Given the description of an element on the screen output the (x, y) to click on. 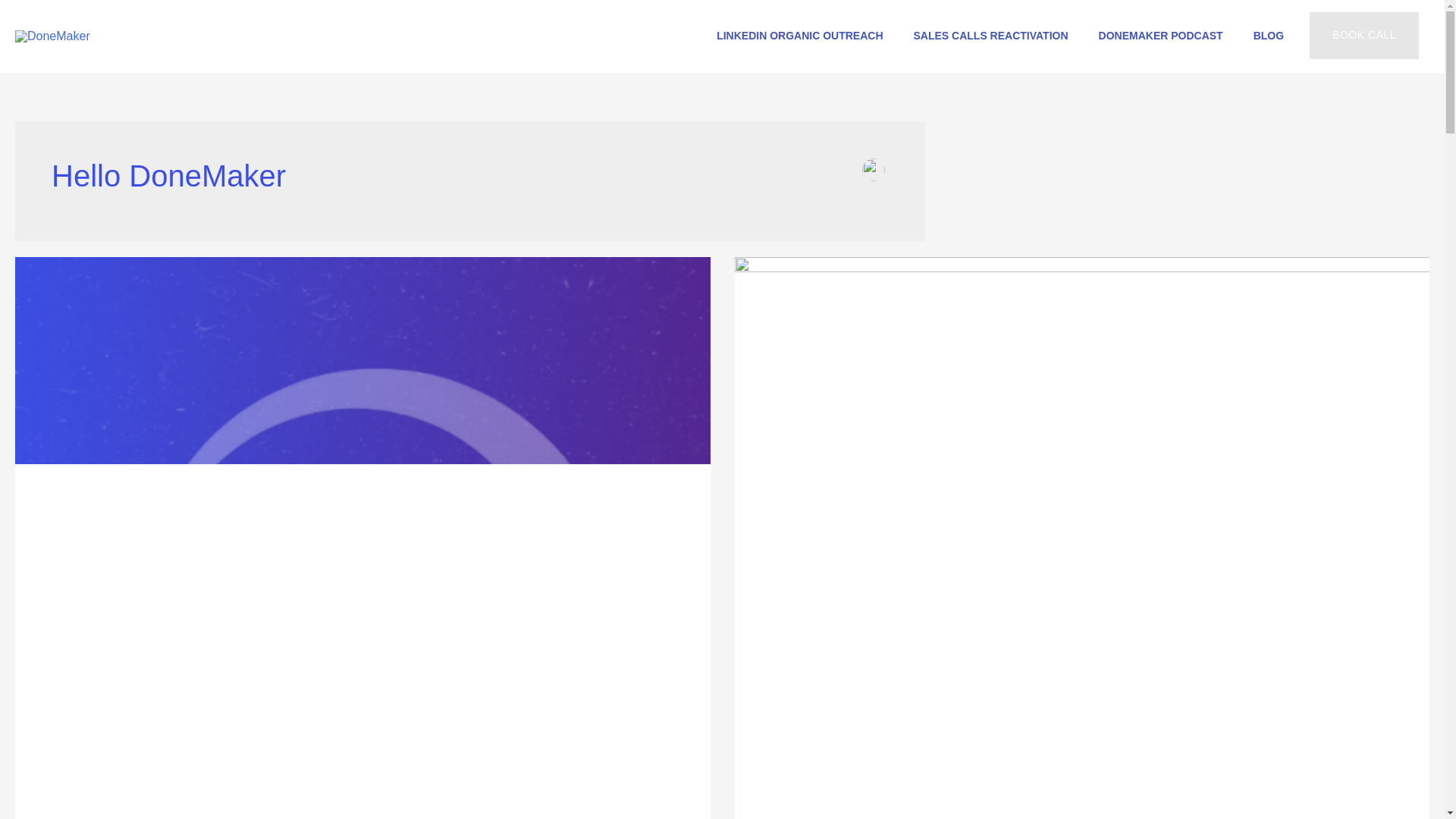
DONEMAKER PODCAST (1161, 35)
BLOG (1268, 35)
SALES CALLS REACTIVATION (990, 35)
LINKEDIN ORGANIC OUTREACH (799, 35)
BOOK CALL (1363, 35)
